Given the description of an element on the screen output the (x, y) to click on. 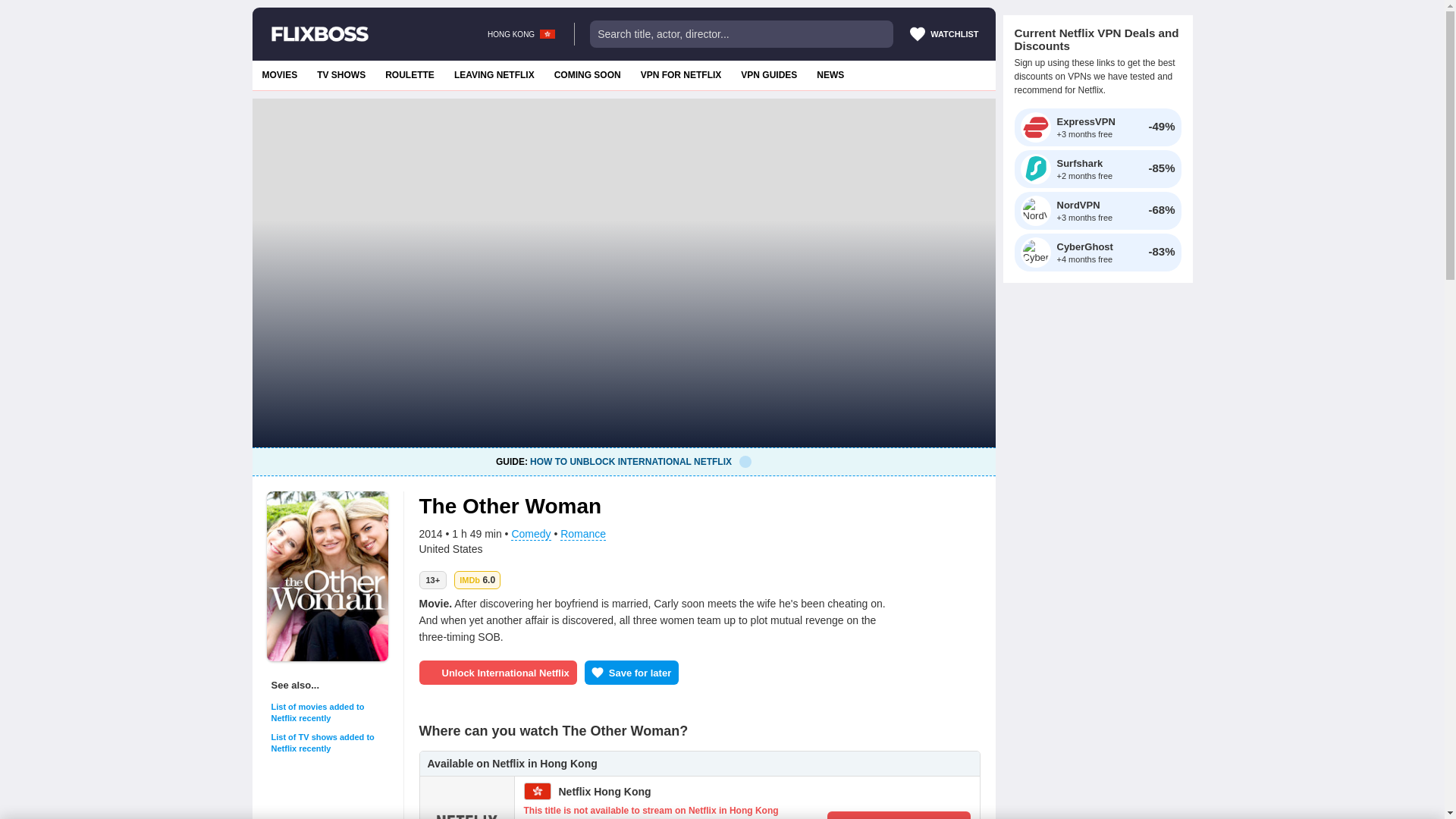
List of TV shows added to Netflix recently (329, 743)
COMING SOON (587, 75)
List of movies added to Netflix recently (329, 712)
VPN FOR NETFLIX (681, 75)
MOVIES (279, 75)
Hong Kong (547, 33)
Comedy (530, 533)
LEAVING NETFLIX (494, 75)
VPN GUIDES (768, 75)
Flixboss (319, 33)
IMDb 6.0 (623, 461)
TV SHOWS (477, 579)
NEWS (341, 75)
Romance (829, 75)
